Given the description of an element on the screen output the (x, y) to click on. 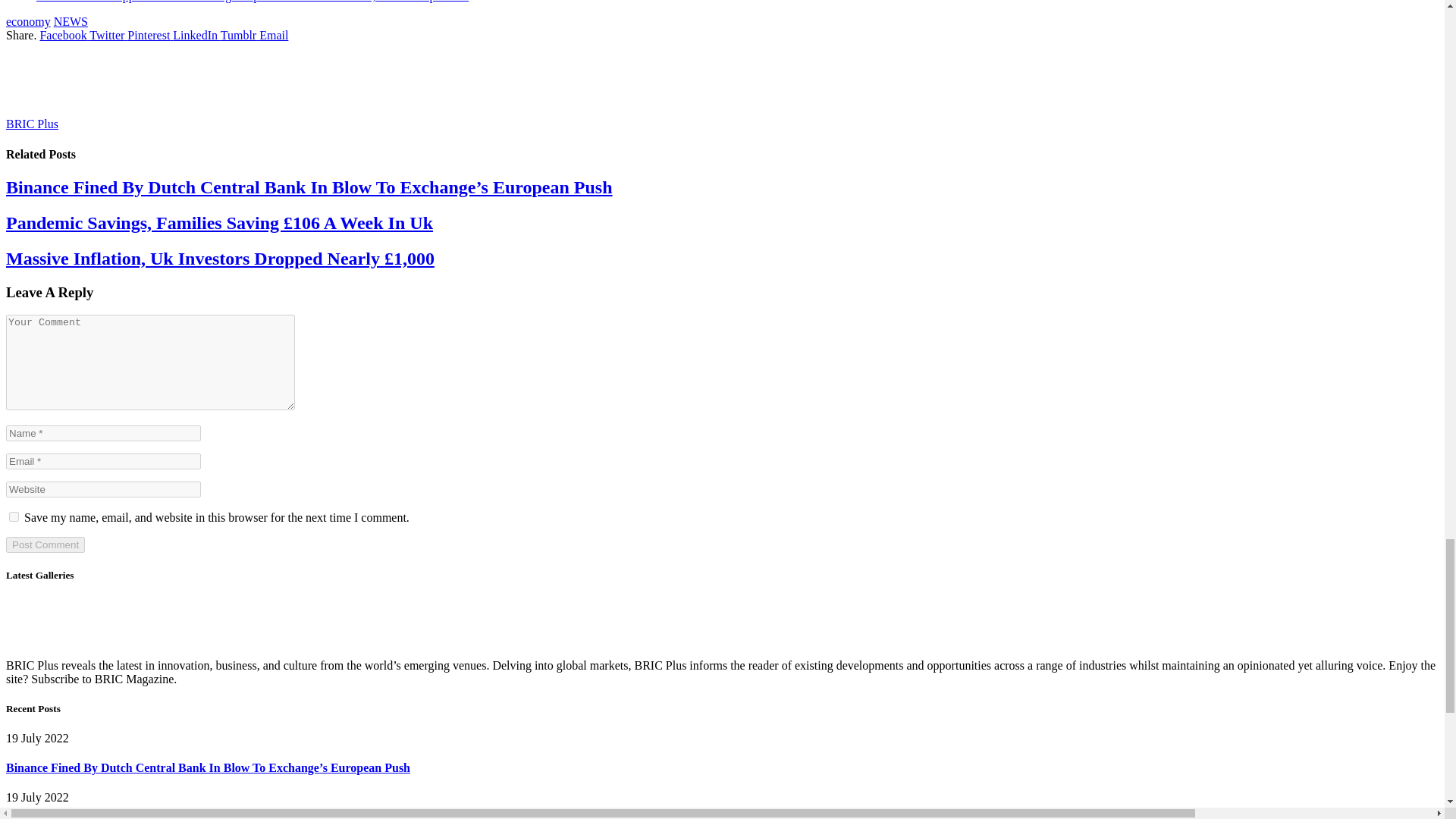
yes (13, 516)
Share on Tumblr (240, 34)
Share on Twitter (108, 34)
Share via Email (273, 34)
Share on Pinterest (150, 34)
economy (27, 21)
Posts by BRIC Plus (31, 123)
Post Comment (44, 544)
Share on Facebook (63, 34)
Share on LinkedIn (196, 34)
